Given the description of an element on the screen output the (x, y) to click on. 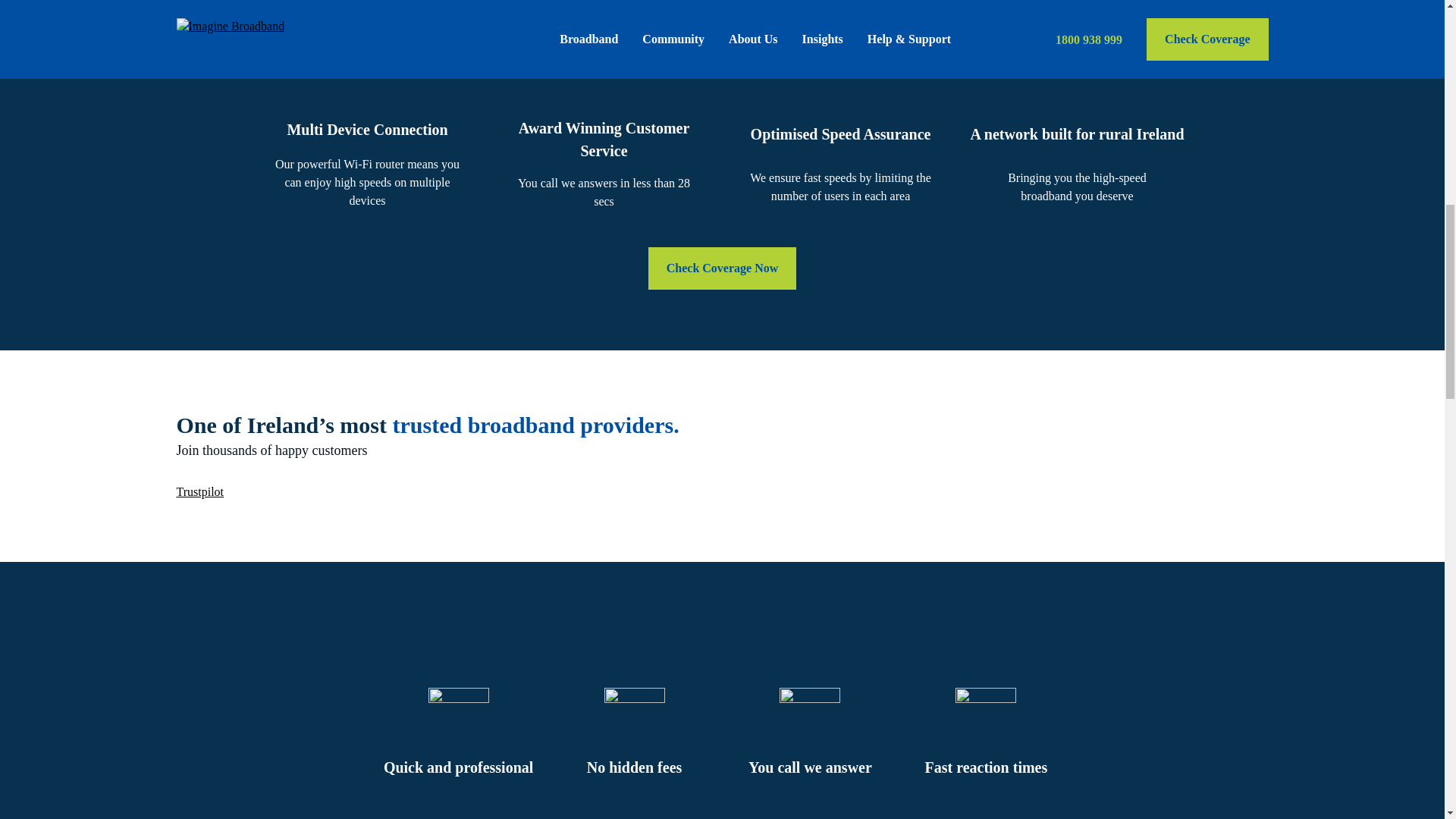
Check Coverage Now (721, 268)
Trustpilot (200, 491)
